Given the description of an element on the screen output the (x, y) to click on. 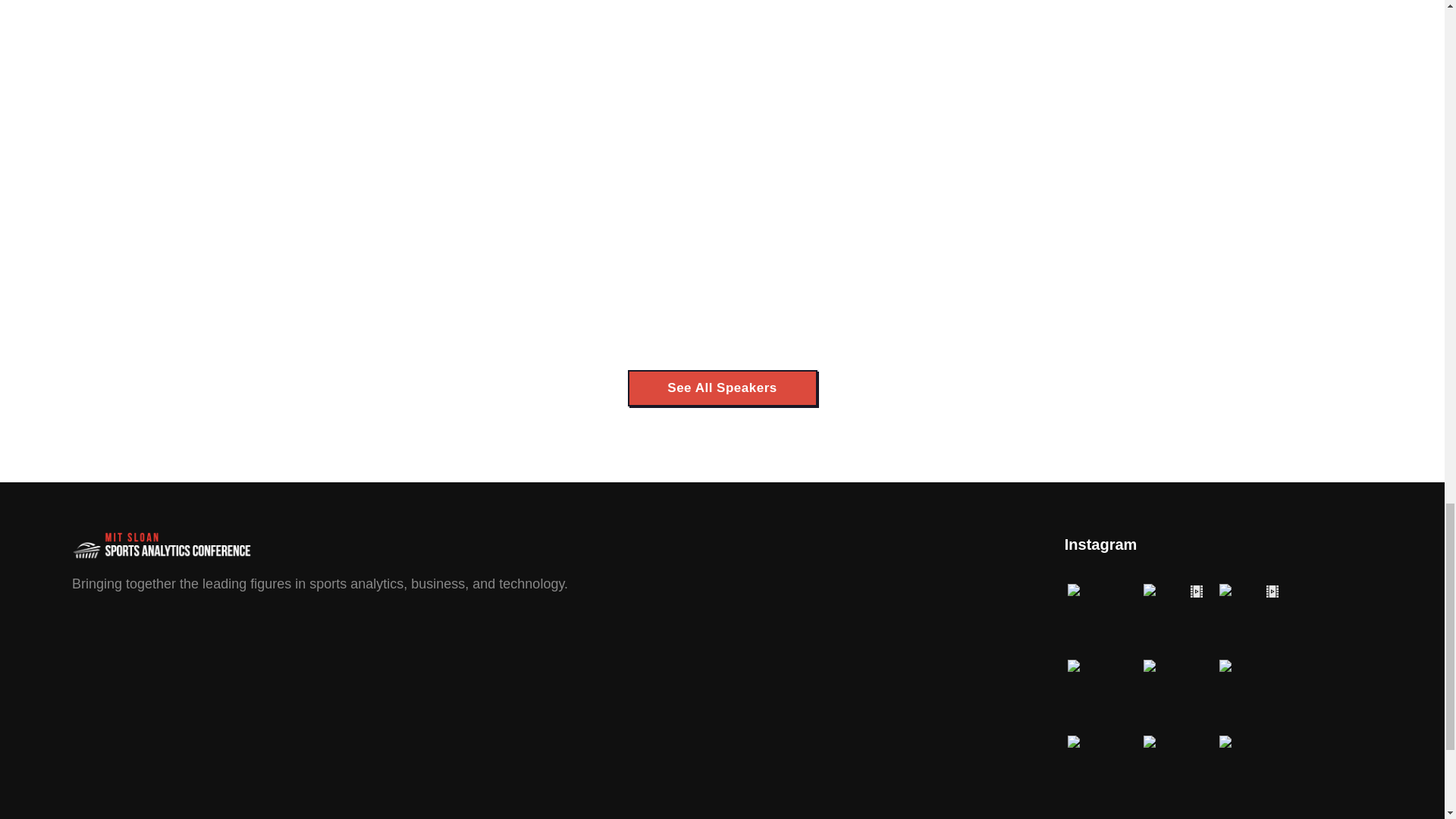
See All Speakers (721, 388)
